Given the description of an element on the screen output the (x, y) to click on. 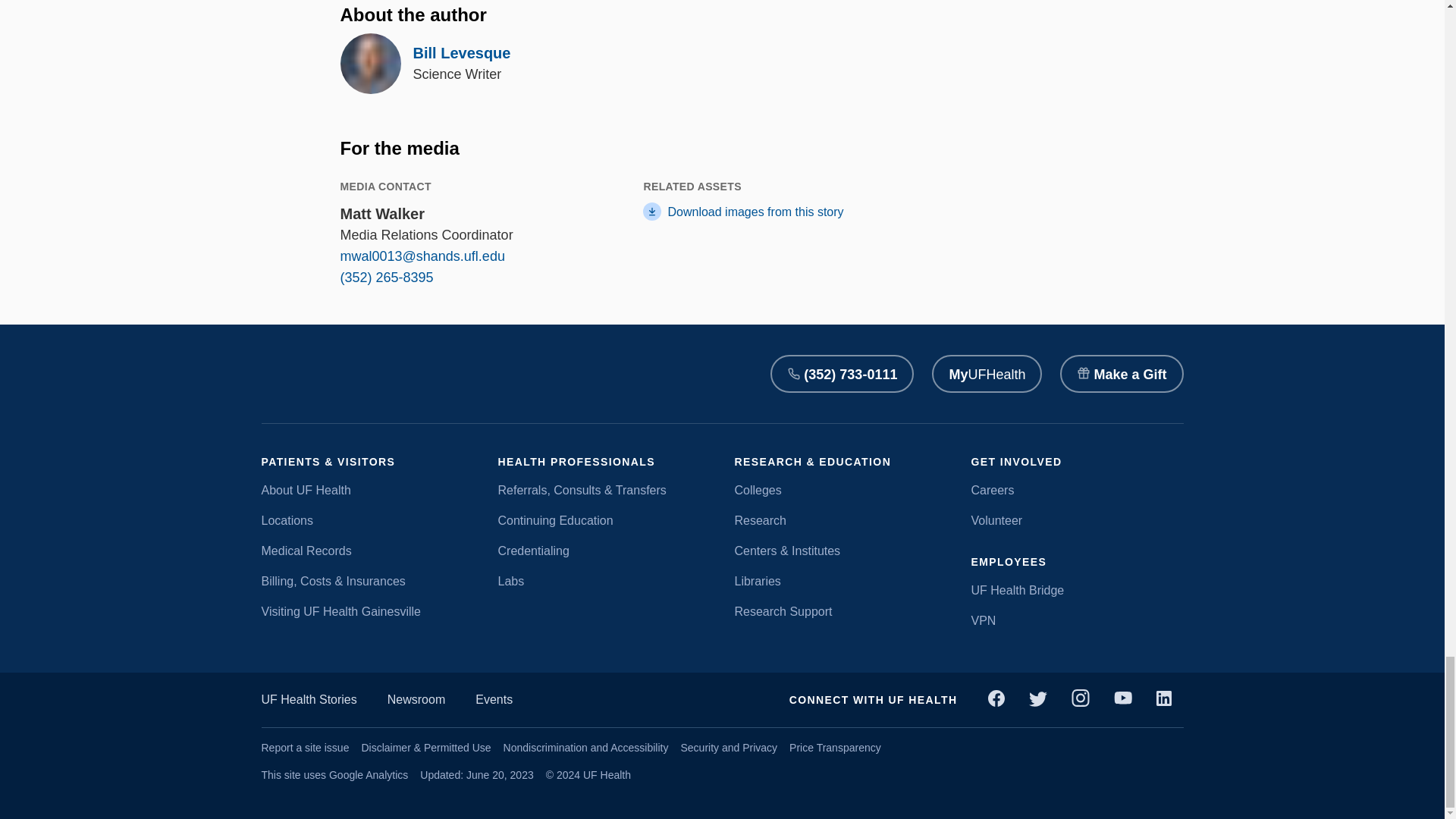
Bill Levesque (461, 53)
